Given the description of an element on the screen output the (x, y) to click on. 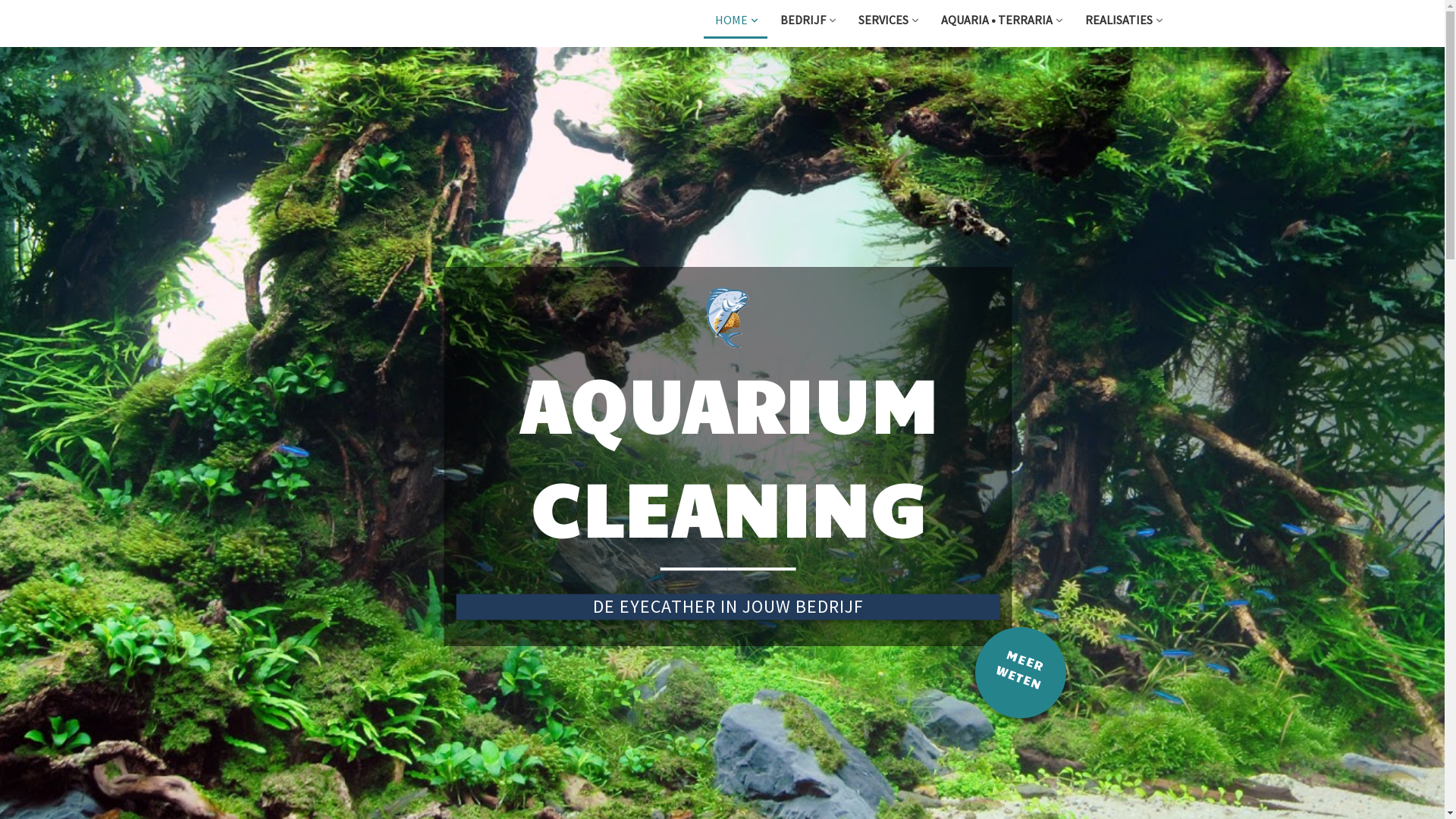
BEDRIJF Element type: text (806, 20)
HOME Element type: text (735, 20)
MEER WETEN Element type: text (1007, 659)
SERVICES Element type: text (886, 20)
REALISATIES Element type: text (1122, 20)
